Given the description of an element on the screen output the (x, y) to click on. 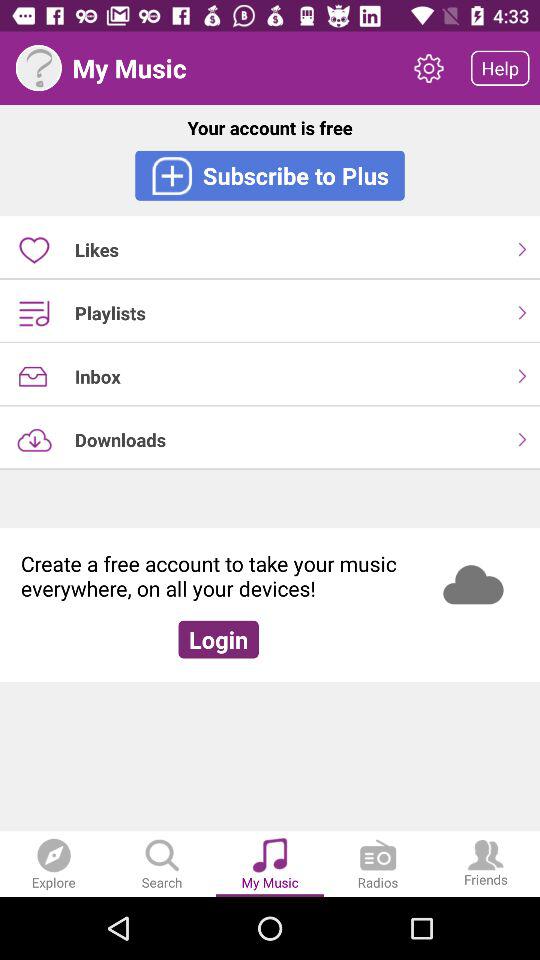
flip until the login (218, 639)
